Given the description of an element on the screen output the (x, y) to click on. 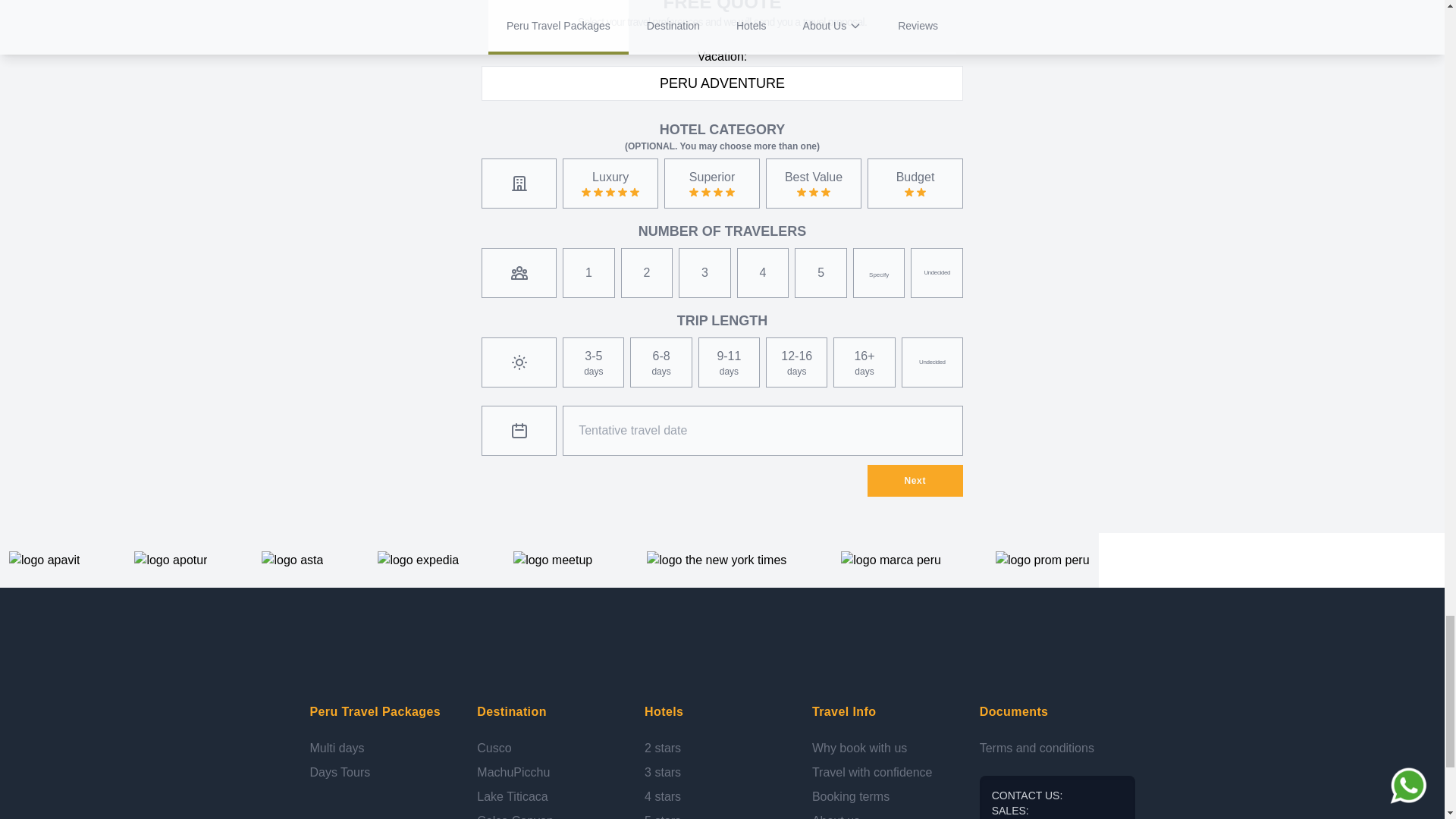
Next (914, 480)
